Given the description of an element on the screen output the (x, y) to click on. 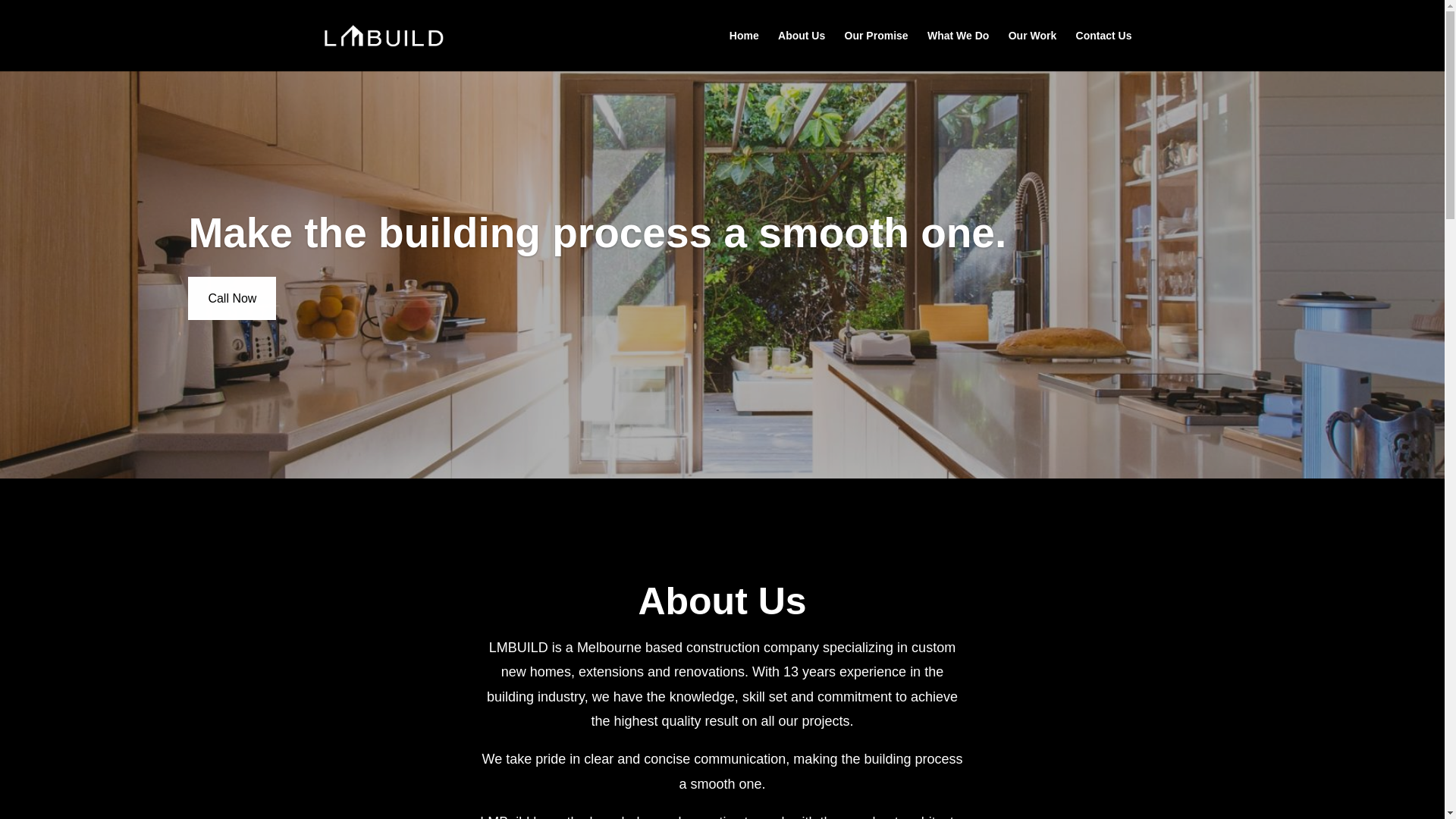
About Us Element type: text (801, 50)
Contact Us Element type: text (1104, 50)
Home Element type: text (744, 50)
Our Work Element type: text (1032, 50)
Our Promise Element type: text (876, 50)
What We Do Element type: text (957, 50)
Make the building process a smooth one. Element type: text (597, 232)
Call Now Element type: text (232, 298)
